Given the description of an element on the screen output the (x, y) to click on. 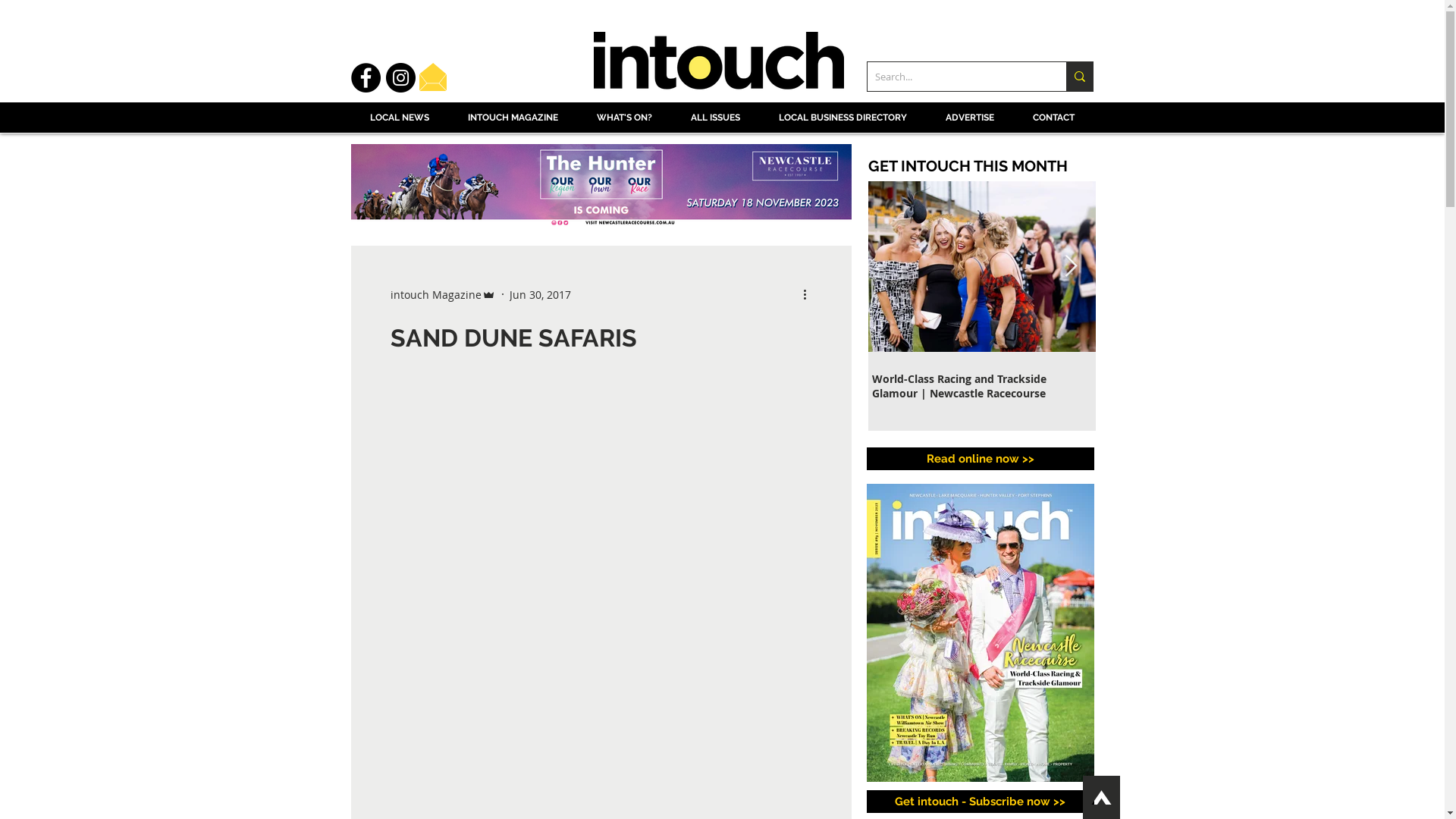
ADVERTISE Element type: text (969, 122)
INTOUCH MAGAZINE Element type: text (511, 122)
CONTACT Element type: text (1053, 122)
ALL ISSUES Element type: text (711, 122)
Local Community Page Element type: text (757, 467)
LOCAL NEWS Element type: text (398, 122)
Get intouch - Subscribe now >> Element type: text (979, 801)
Intouch Magazine logo Element type: hover (718, 61)
It's Astounding... Element type: text (1209, 377)
LOCAL BUSINESS DIRECTORY Element type: text (841, 122)
Click on the intouch Magazine cover to read online! Element type: hover (979, 632)
WHAT'S ON? Element type: text (620, 122)
Read online now >> Element type: text (979, 458)
